Given the description of an element on the screen output the (x, y) to click on. 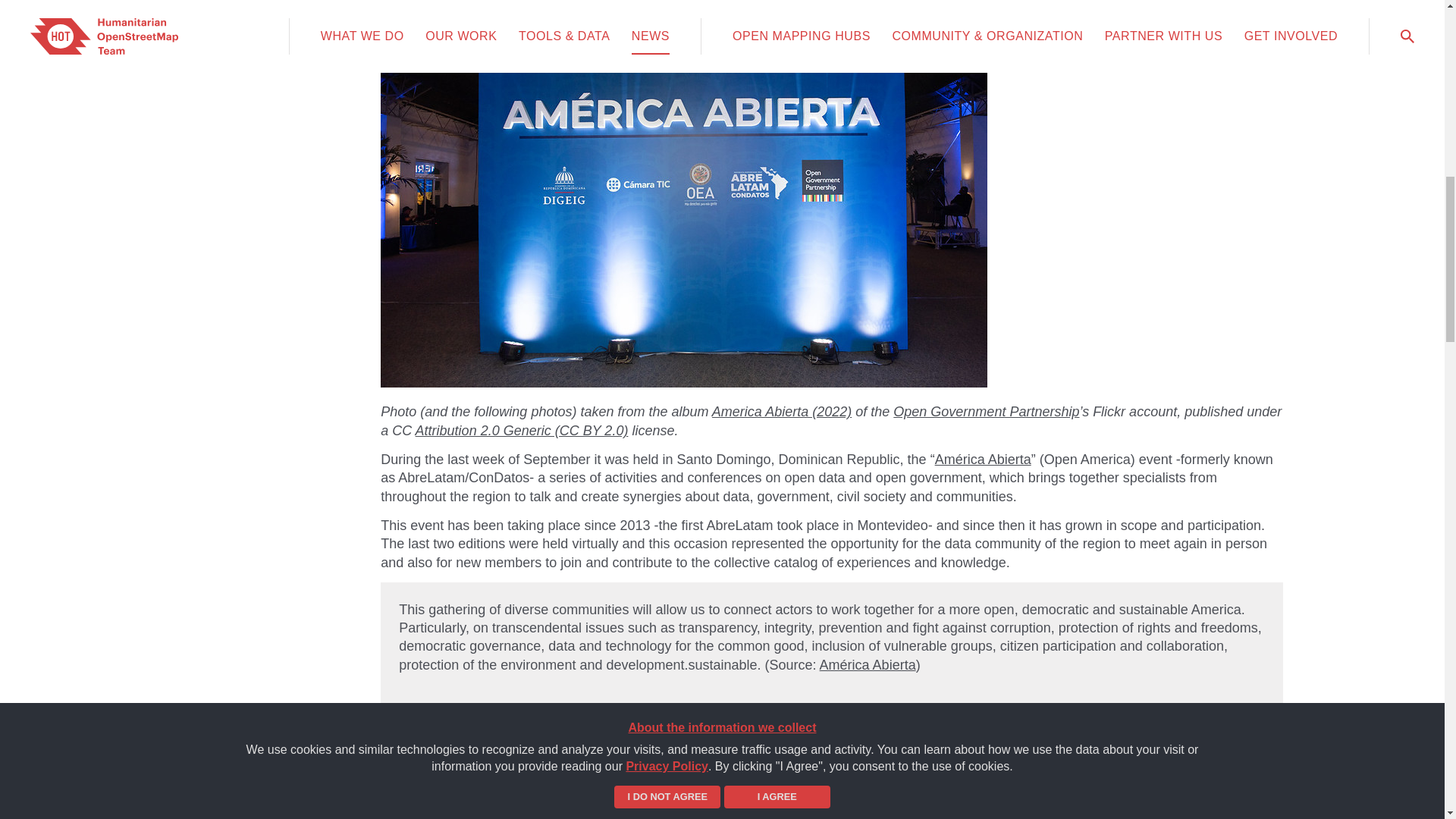
Open Government Partnership (985, 411)
